Given the description of an element on the screen output the (x, y) to click on. 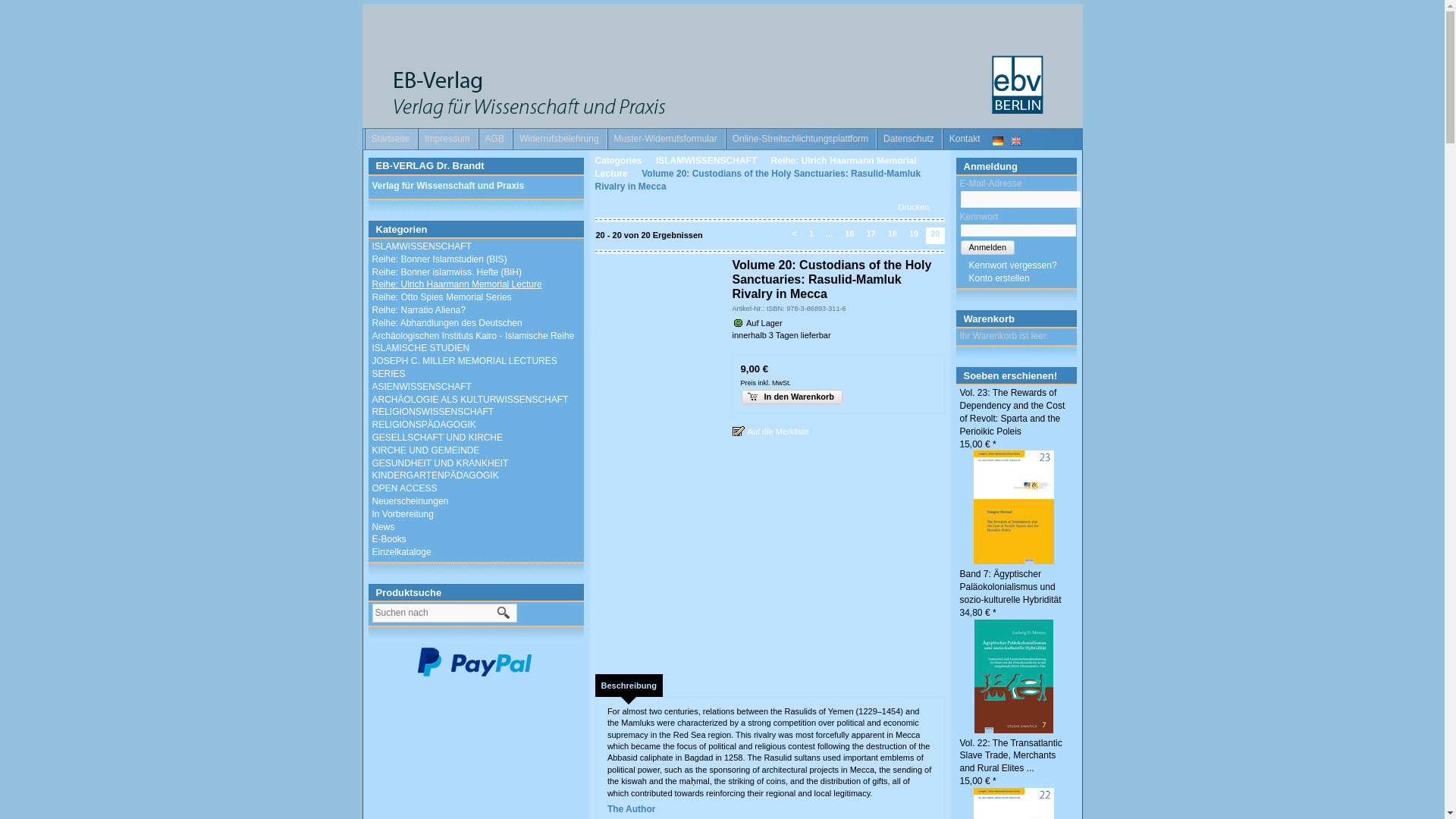
Muster-Widerrufsformular (669, 138)
Kontakt (968, 138)
PayPal PLUS (473, 661)
Online-Streitschlichtungsplattform (804, 138)
E-Books (388, 538)
Kennwort vergessen? (1008, 265)
JOSEPH C. MILLER MEMORIAL LECTURES SERIES (463, 367)
Datenschutz (912, 138)
Einzelkataloge (400, 552)
GESELLSCHAFT UND KIRCHE (436, 437)
